Given the description of an element on the screen output the (x, y) to click on. 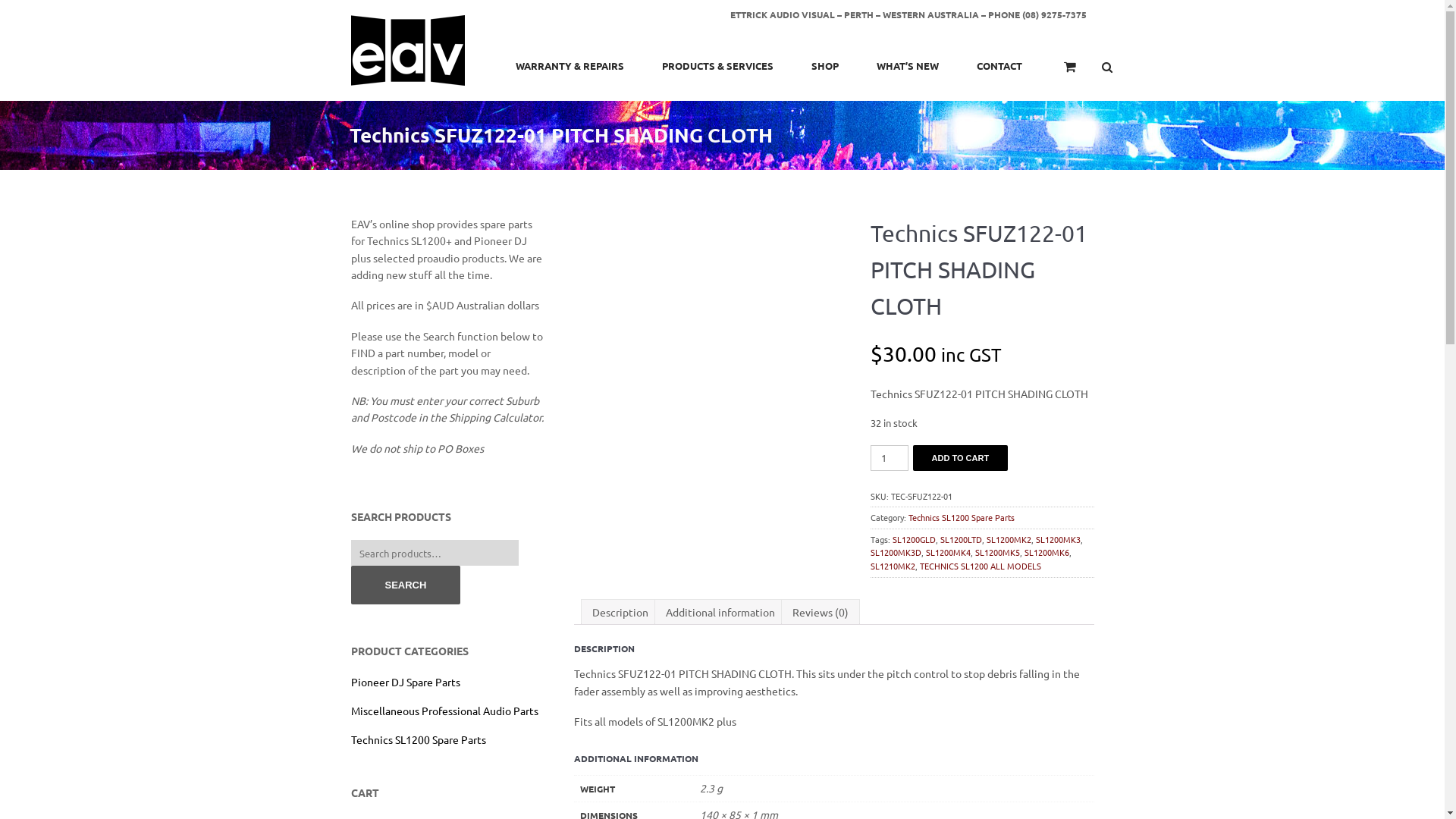
SL1200MK4 Element type: text (947, 552)
Description Element type: text (619, 611)
Additional information Element type: text (720, 611)
SL1200MK5 Element type: text (997, 552)
SL1210MK2 Element type: text (892, 565)
TECHNICS SL1200 ALL MODELS Element type: text (980, 565)
SL1200LTD Element type: text (961, 539)
SL1200MK3 Element type: text (1057, 539)
Pioneer DJ Spare Parts Element type: text (404, 681)
SHOP Element type: text (823, 65)
CONTACT Element type: text (998, 65)
View your shopping cart Element type: hover (1058, 72)
SL1200MK2 Element type: text (1008, 539)
SL1200MK6 Element type: text (1046, 552)
WARRANTY & REPAIRS Element type: text (568, 65)
Reviews (0) Element type: text (819, 611)
Technics SL1200 Spare Parts Element type: text (961, 517)
SL1200GLD Element type: text (913, 539)
Miscellaneous Professional Audio Parts Element type: text (443, 710)
SEARCH Element type: text (405, 584)
ADD TO CART Element type: text (960, 457)
Technics SL1200 Spare Parts Element type: text (417, 739)
PRODUCTS & SERVICES Element type: text (717, 65)
SL1200MK3D Element type: text (895, 552)
